Given the description of an element on the screen output the (x, y) to click on. 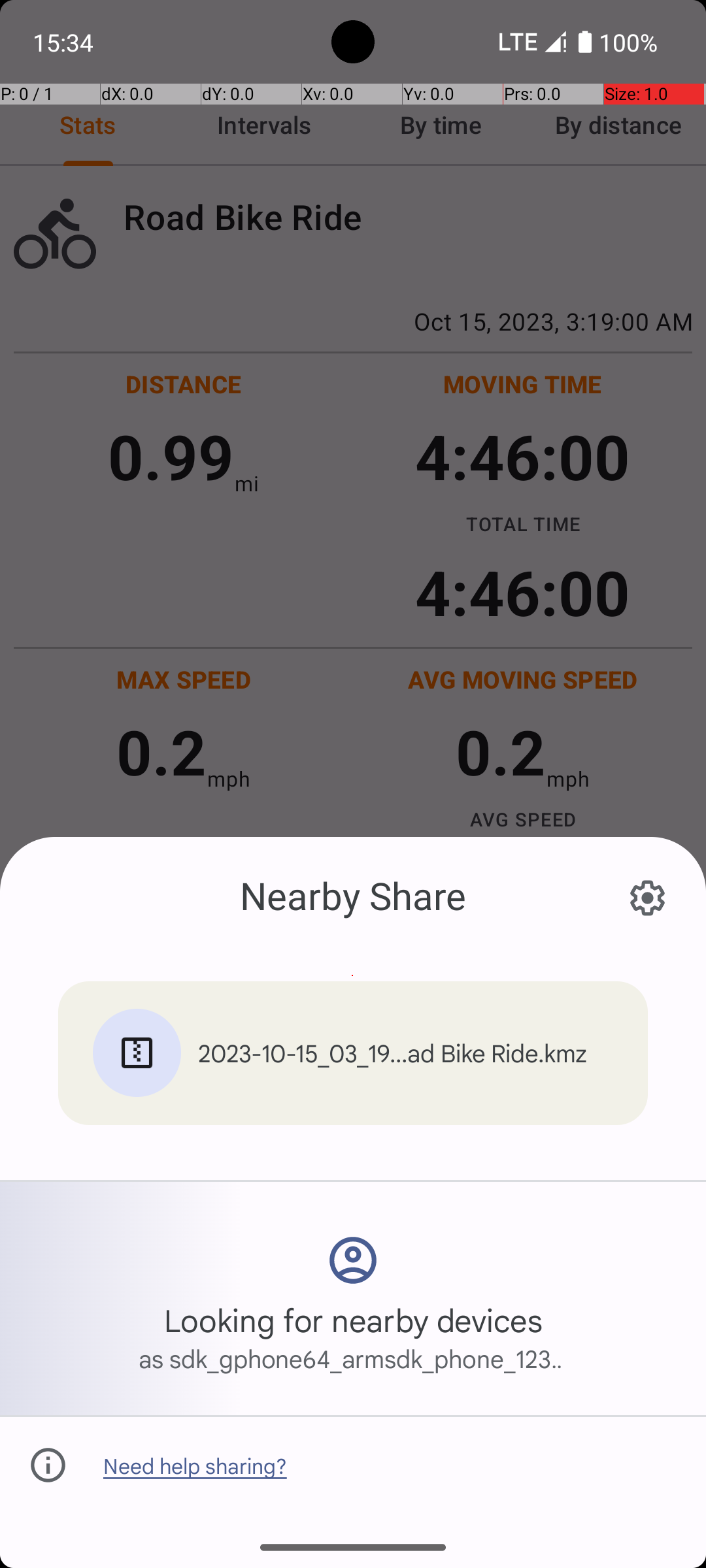
Nearby Share Element type: android.widget.TextView (353, 894)
2023-10-15_03_19_Road Bike Ride.kmz Element type: android.widget.TextView (397, 1052)
Need help sharing? Element type: android.widget.TextView (194, 1464)
Looking for nearby devices Element type: android.widget.TextView (353, 1319)
as sdk_gphone64_armsdk_phone_123464 Element type: android.widget.TextView (352, 1358)
